Given the description of an element on the screen output the (x, y) to click on. 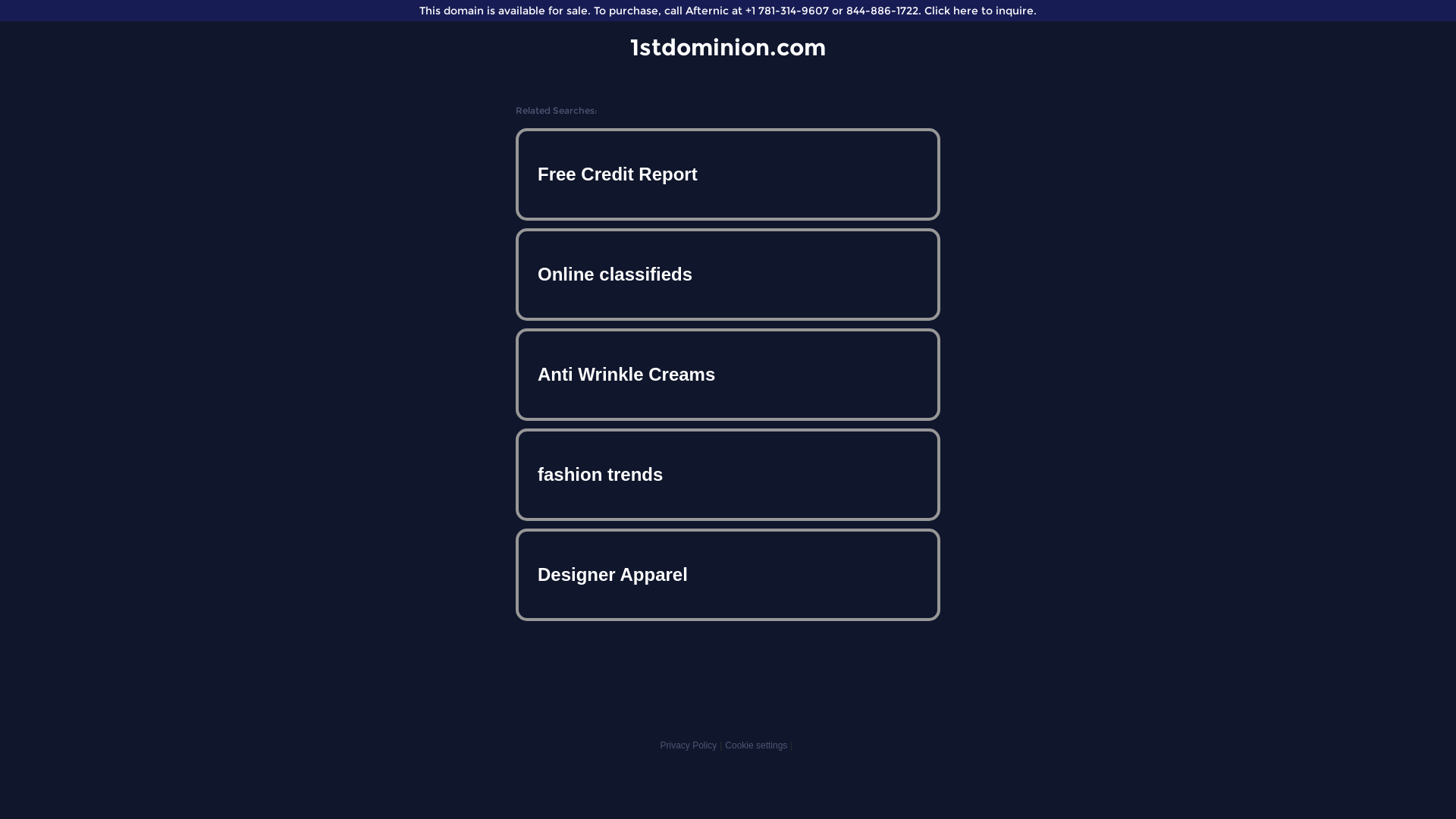
Privacy Policy Element type: text (687, 745)
fashion trends Element type: text (727, 474)
Designer Apparel Element type: text (727, 574)
Cookie settings Element type: text (755, 745)
Online classifieds Element type: text (727, 274)
Anti Wrinkle Creams Element type: text (727, 374)
1stdominion.com Element type: text (727, 47)
Free Credit Report Element type: text (727, 174)
